Given the description of an element on the screen output the (x, y) to click on. 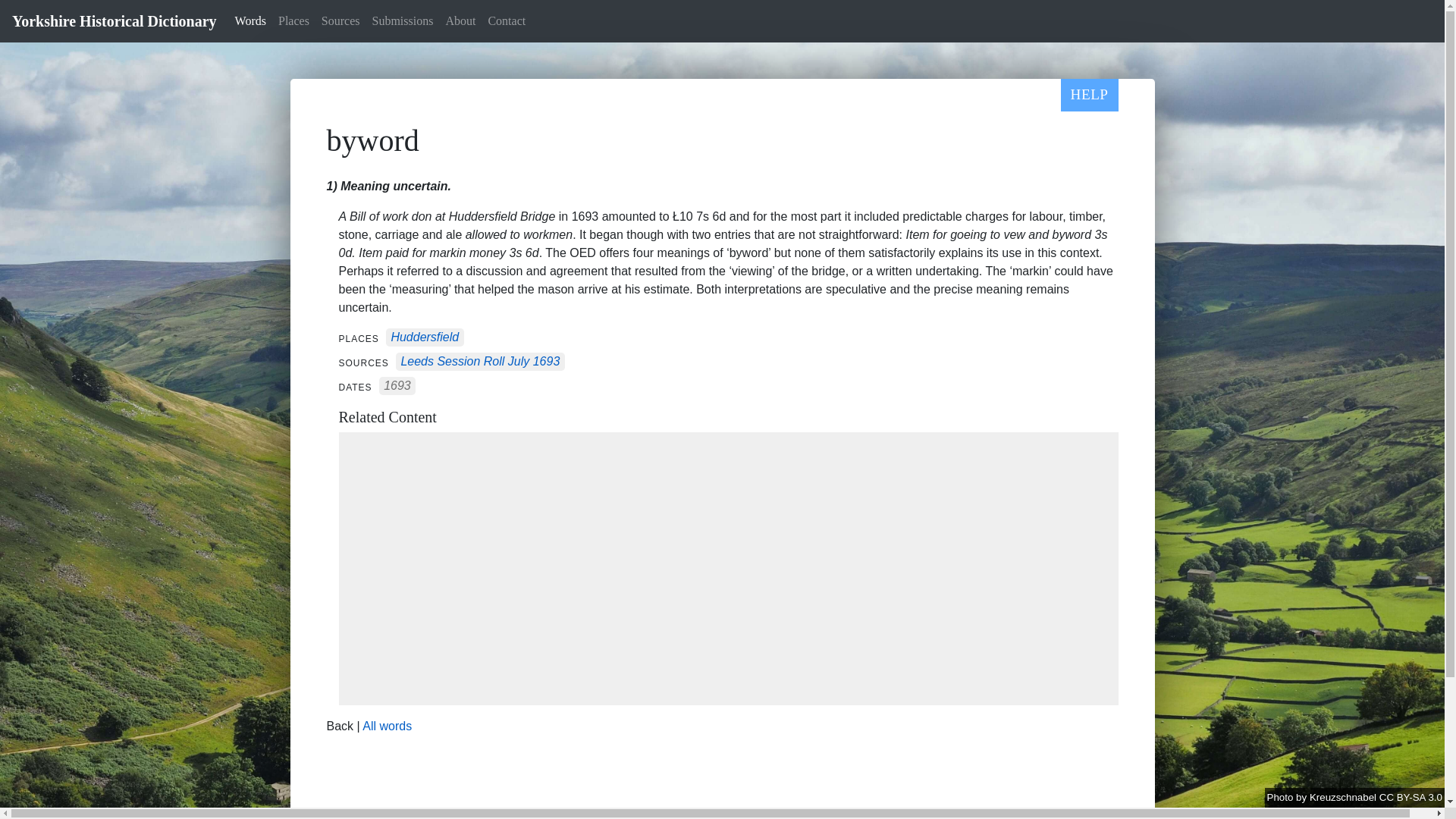
Photo (1281, 797)
Contact (506, 20)
Back (339, 725)
Words (250, 20)
HELP (1089, 94)
Submissions (402, 20)
Sources (340, 20)
Huddersfield (424, 337)
Yorkshire Historical Dictionary (113, 20)
CC BY-SA 3.0 (1410, 797)
